Given the description of an element on the screen output the (x, y) to click on. 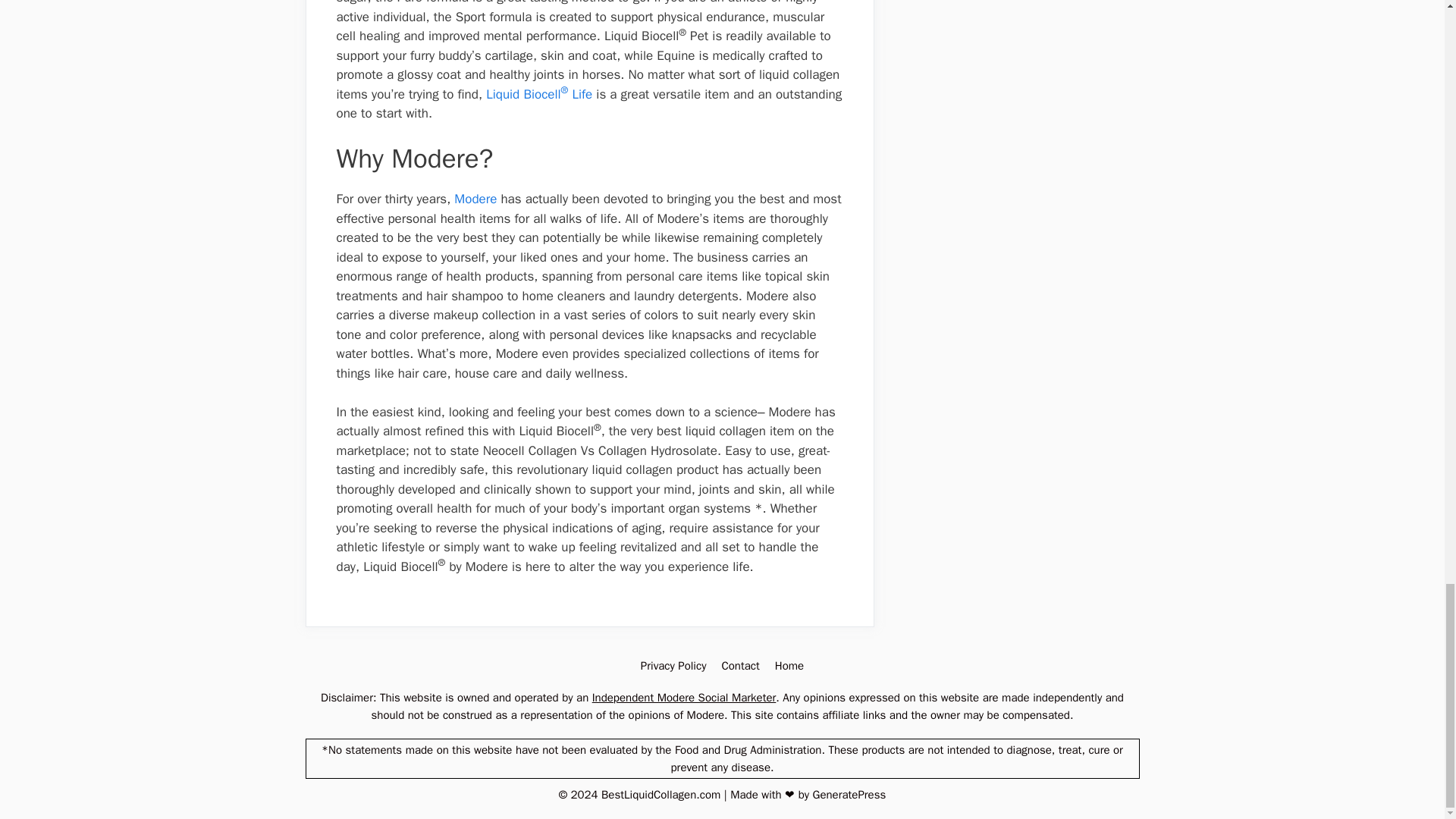
Home (788, 665)
Independent Modere Social Marketer (684, 697)
Modere (475, 198)
GeneratePress (849, 794)
Privacy Policy (673, 665)
Contact (739, 665)
